Given the description of an element on the screen output the (x, y) to click on. 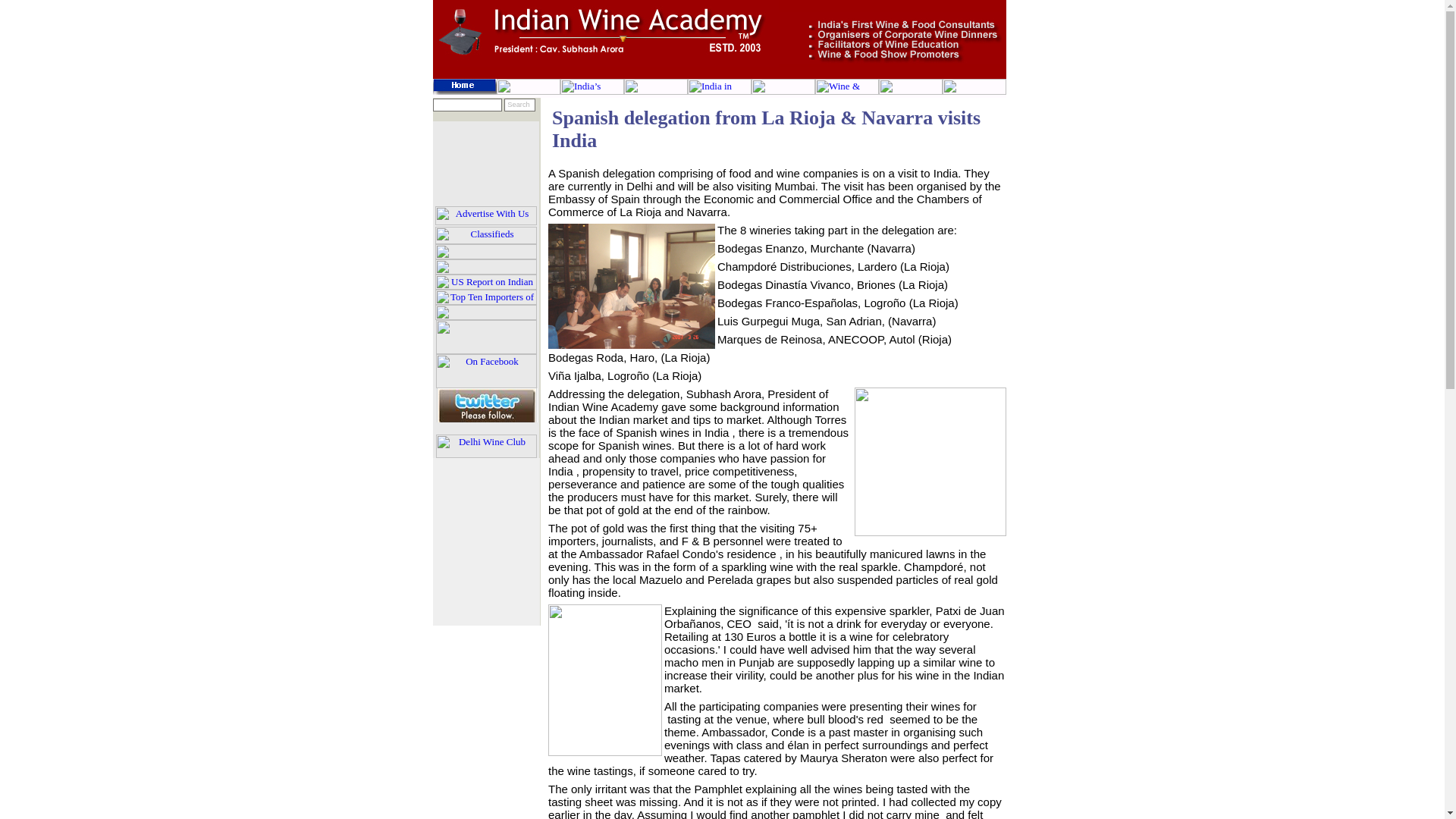
Classifieds (486, 233)
Search (519, 104)
Advertise With Us (486, 214)
On Facebook (485, 369)
On Twitter (486, 405)
Search (519, 104)
